Given the description of an element on the screen output the (x, y) to click on. 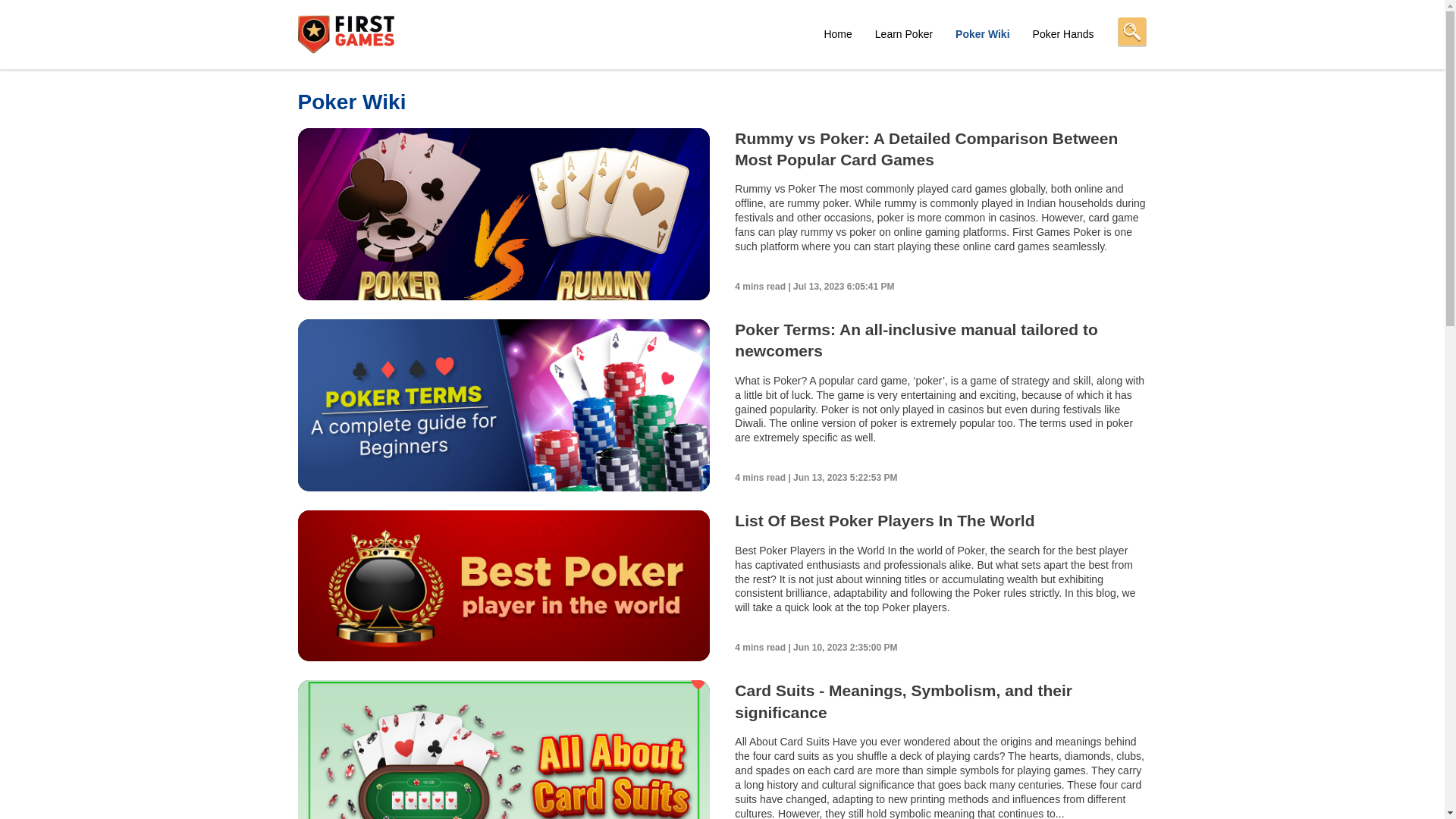
Poker Terms: An all-inclusive manual tailored to newcomers (916, 340)
Learn Poker (903, 33)
Poker Wiki (981, 33)
List Of Best Poker Players In The World (884, 520)
Home (837, 33)
Poker Hands (1063, 33)
Card Suits - Meanings, Symbolism, and their significance (903, 700)
